Given the description of an element on the screen output the (x, y) to click on. 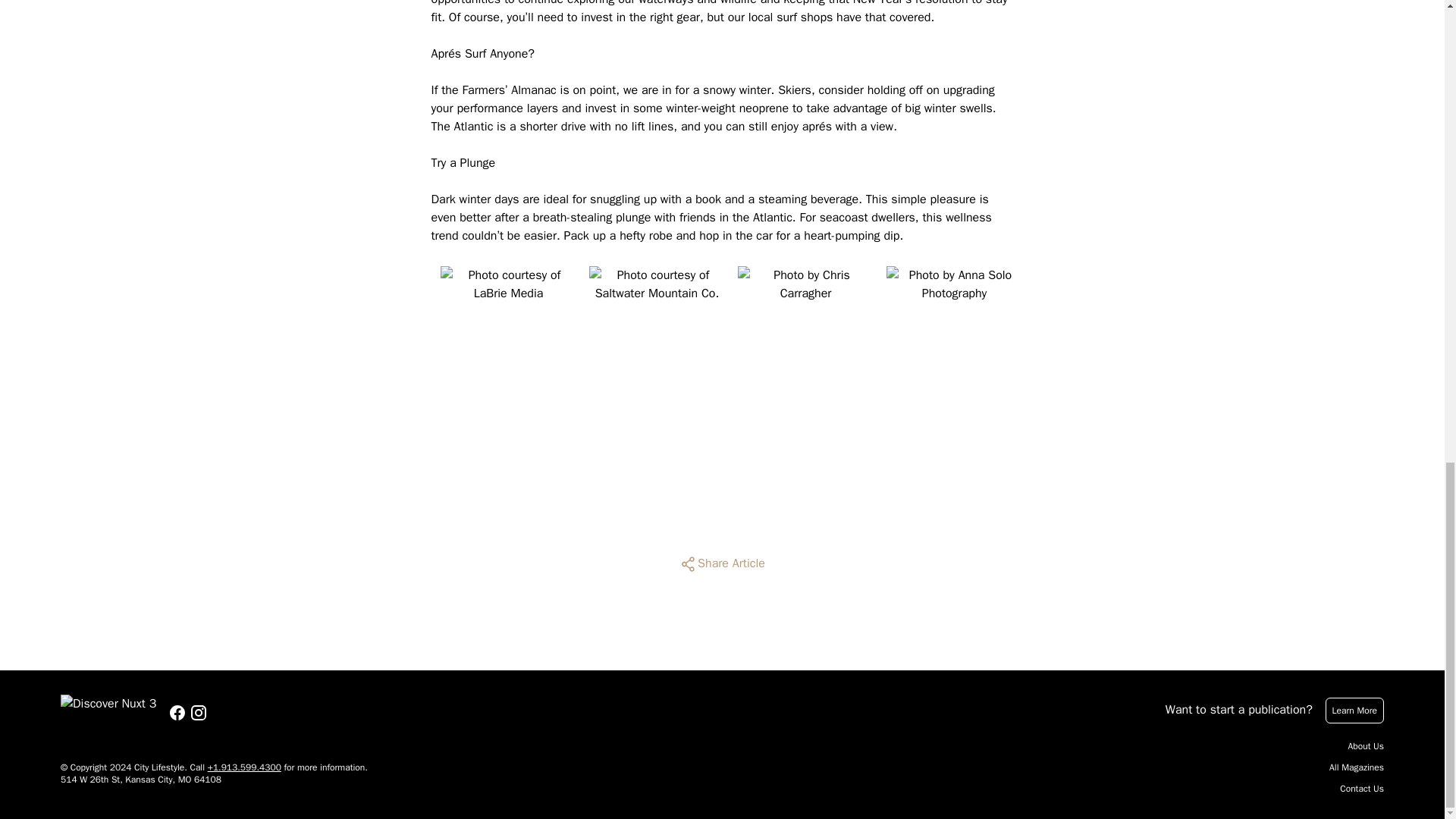
Learn More (1354, 710)
Share Article (722, 563)
Contact Us (1361, 788)
All Magazines (1356, 767)
About Us (1366, 746)
